Given the description of an element on the screen output the (x, y) to click on. 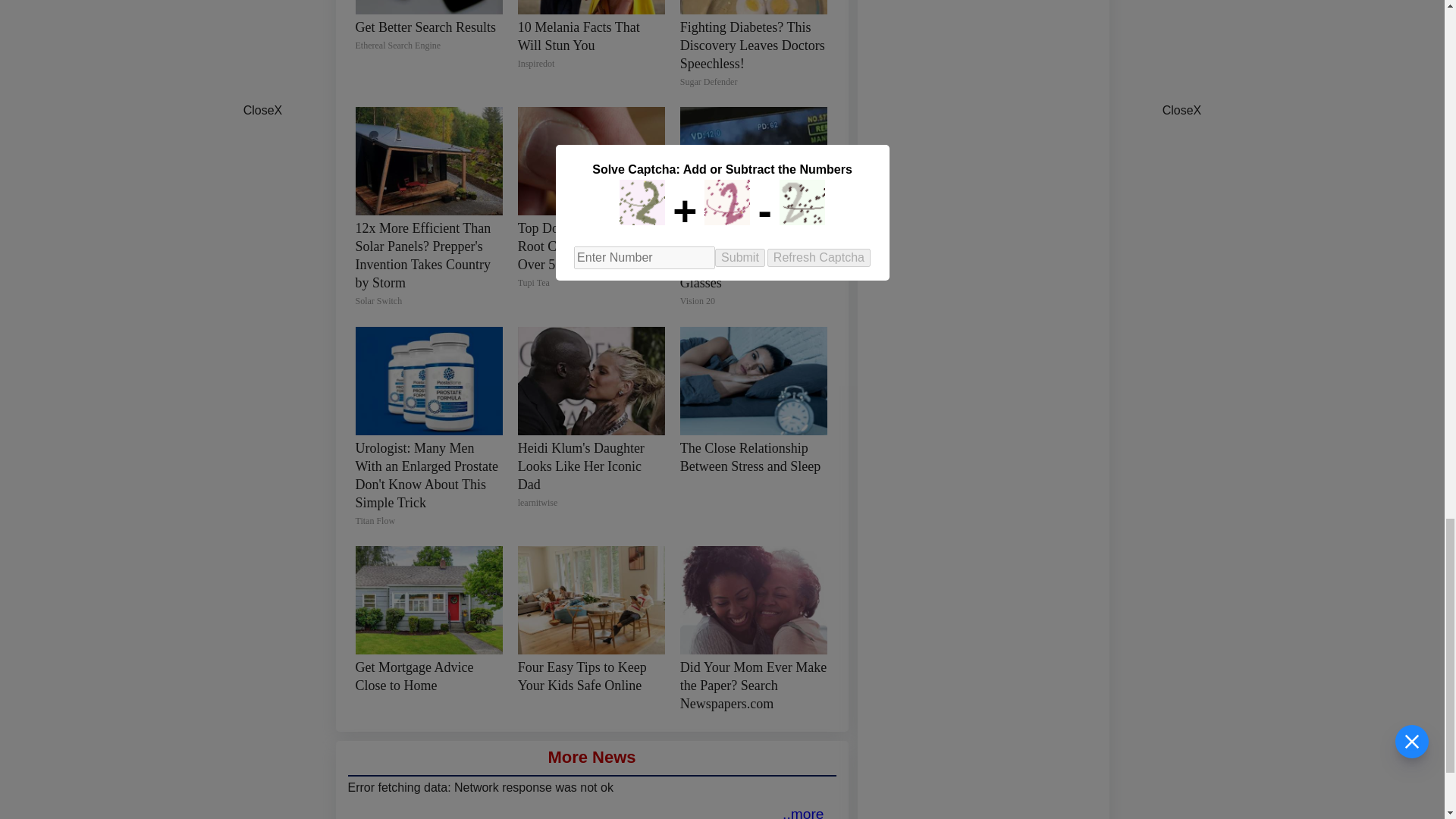
English News (803, 812)
